Given the description of an element on the screen output the (x, y) to click on. 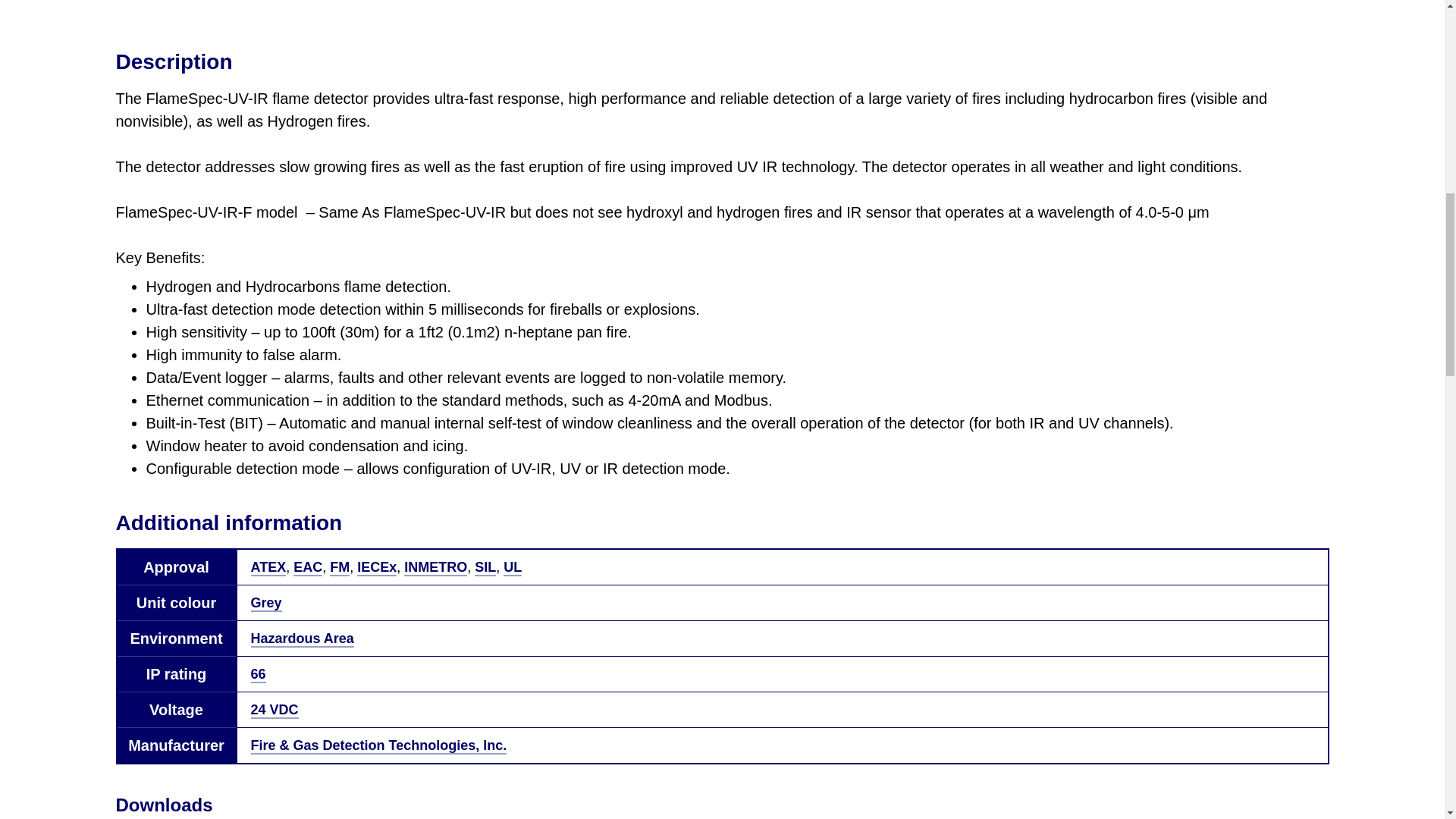
Hazardous Area (301, 638)
SIL (485, 567)
Grey (265, 603)
INMETRO (435, 567)
66 (257, 674)
24 VDC (274, 710)
FM (339, 567)
IECEx (376, 567)
EAC (307, 567)
UL (512, 567)
ATEX (267, 567)
